Given the description of an element on the screen output the (x, y) to click on. 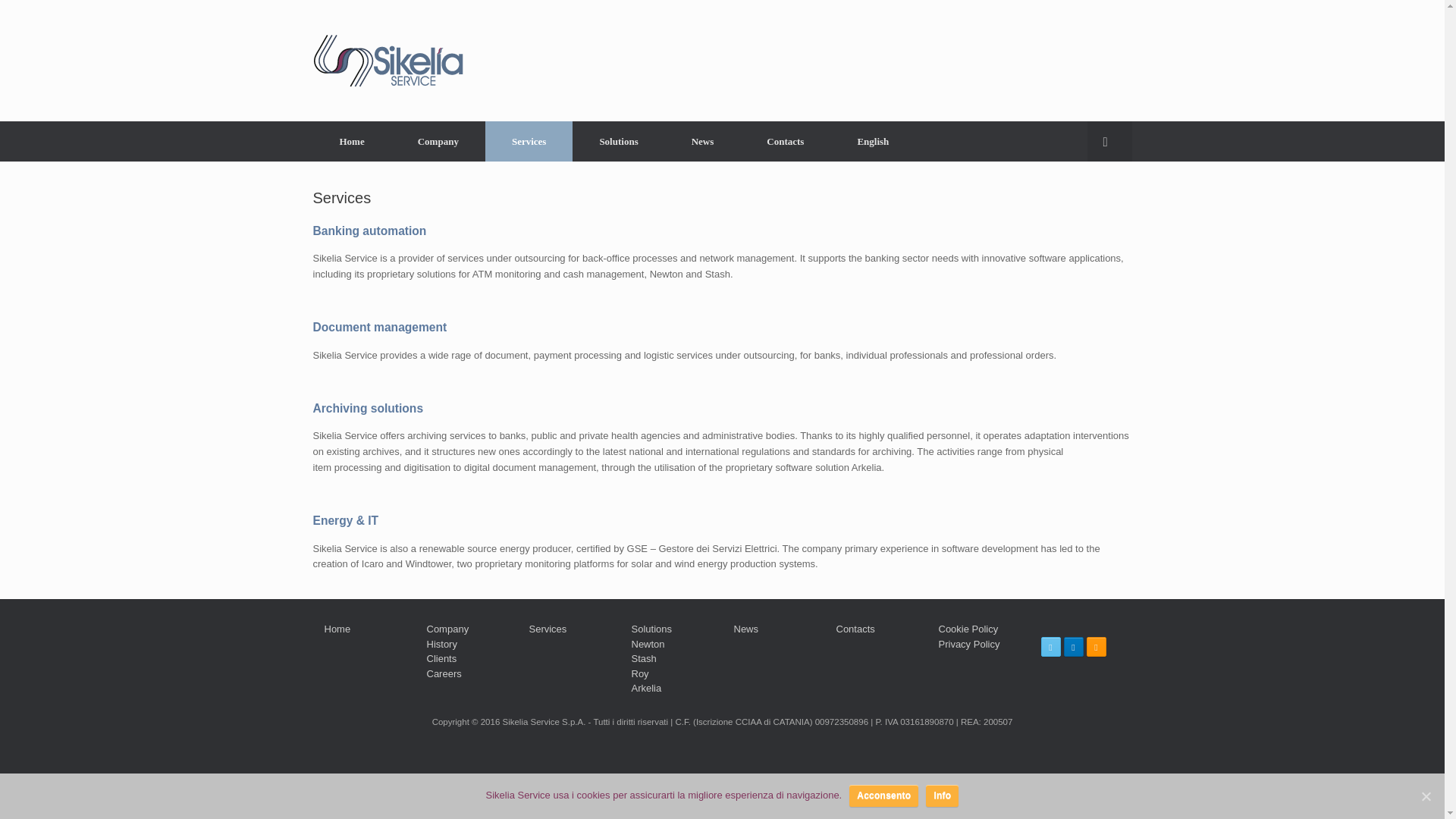
Careers (443, 673)
Roy (638, 673)
Company (447, 628)
Privacy Policy (969, 644)
Solutions (617, 141)
Stash (643, 658)
Cookie Policy (968, 628)
Sikelia Service LinkedIn (1072, 646)
Newton (646, 644)
News (703, 141)
Contacts (855, 628)
News (745, 628)
Company (437, 141)
Sikelia Service Twitter (1050, 646)
History (441, 644)
